Given the description of an element on the screen output the (x, y) to click on. 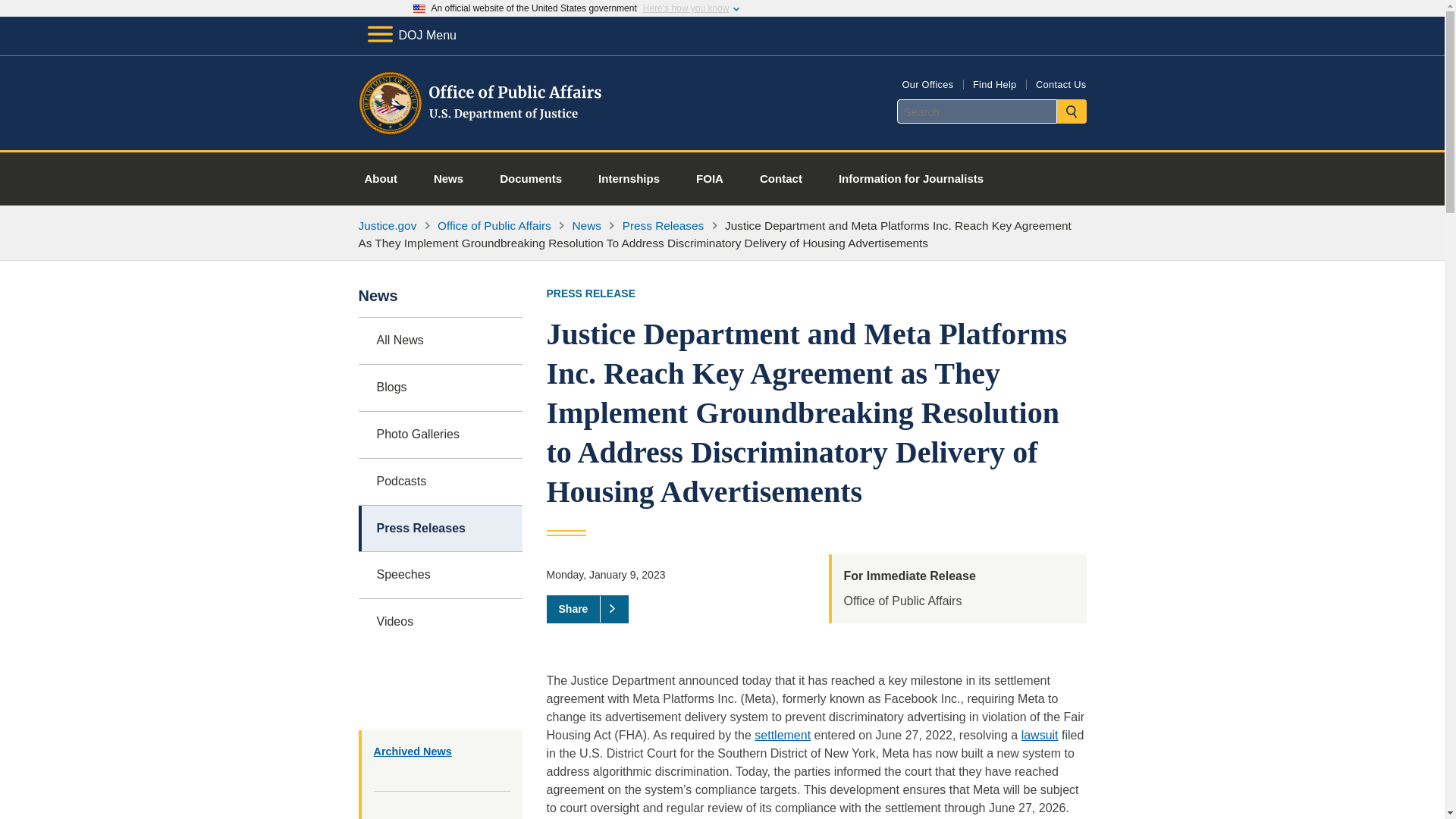
Office of Public Affairs (494, 225)
Contact Us (1060, 84)
Here's how you know (686, 8)
Find Help (994, 84)
Press Releases (663, 225)
About (380, 179)
News (586, 225)
FOIA (709, 179)
News (447, 179)
Justice.gov (387, 225)
